Given the description of an element on the screen output the (x, y) to click on. 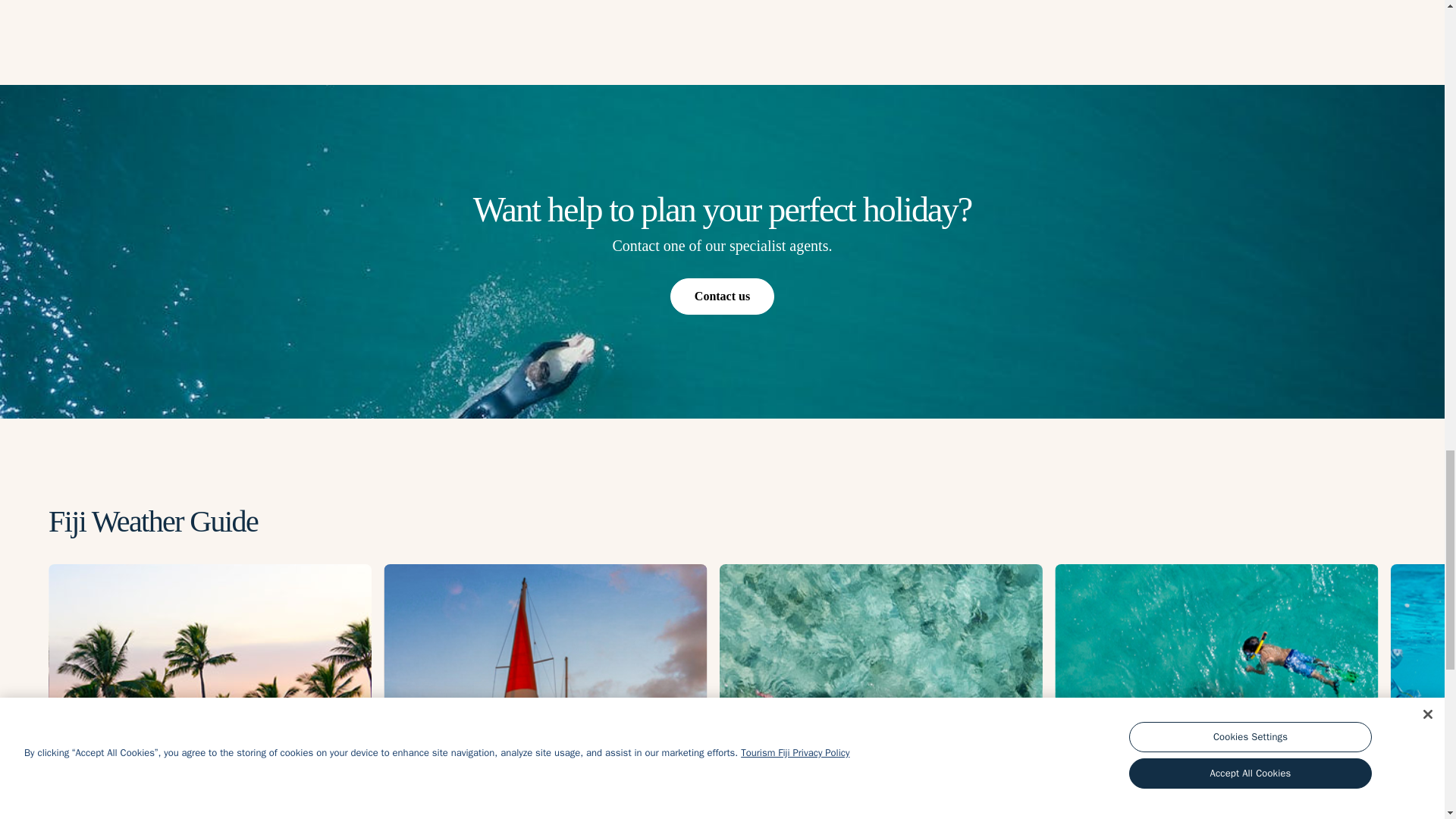
Fiji Travel Advisory (545, 691)
Weather in Fiji (880, 691)
Contact us (721, 296)
Climate in Fiji (209, 691)
Fiji Weather in January (1215, 691)
